Given the description of an element on the screen output the (x, y) to click on. 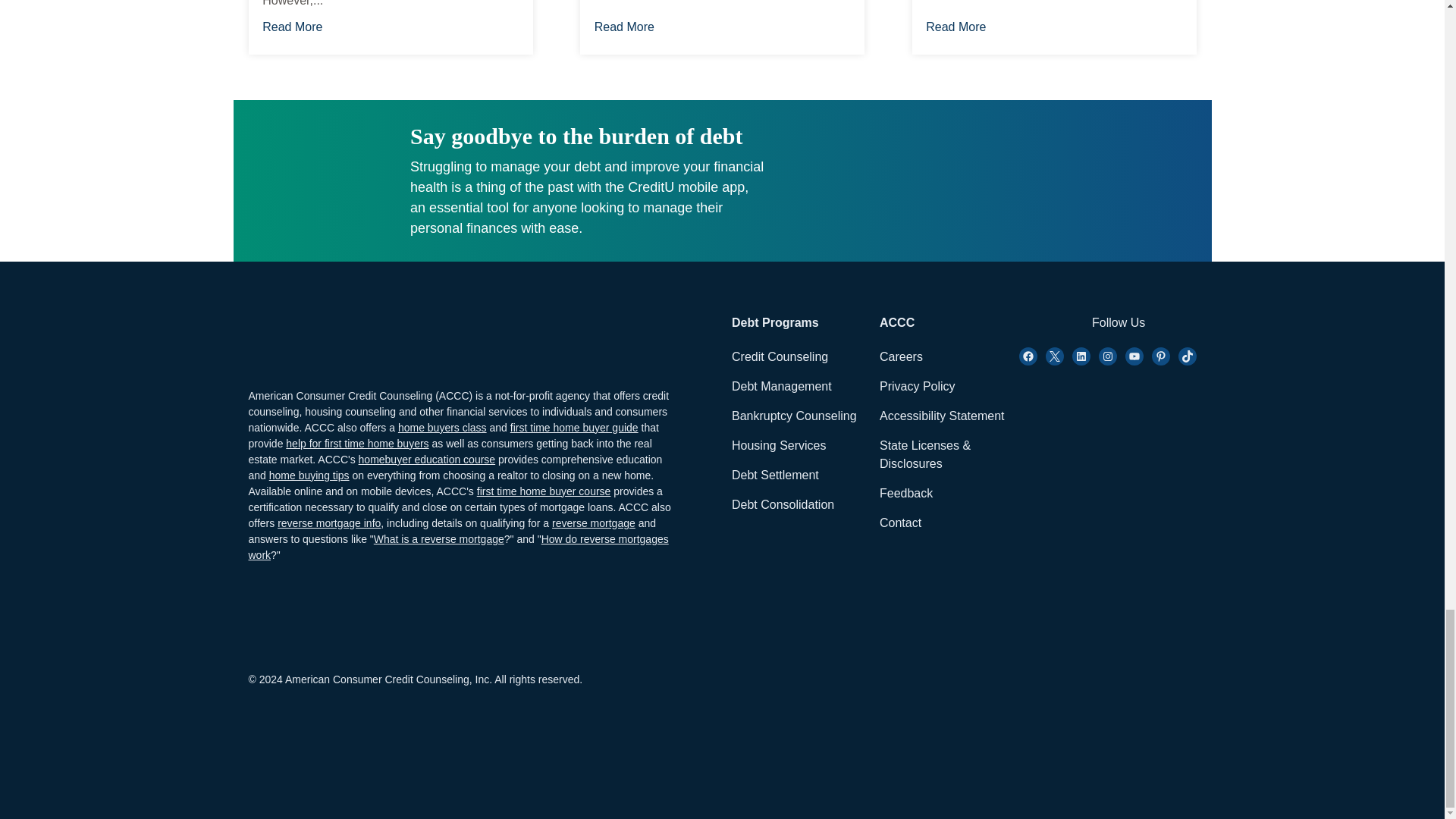
twitter (1053, 356)
instagram (1080, 356)
youtube (1133, 356)
facebook (1027, 356)
pinterest (1160, 356)
instagram (1106, 356)
tiktok (1186, 356)
